Given the description of an element on the screen output the (x, y) to click on. 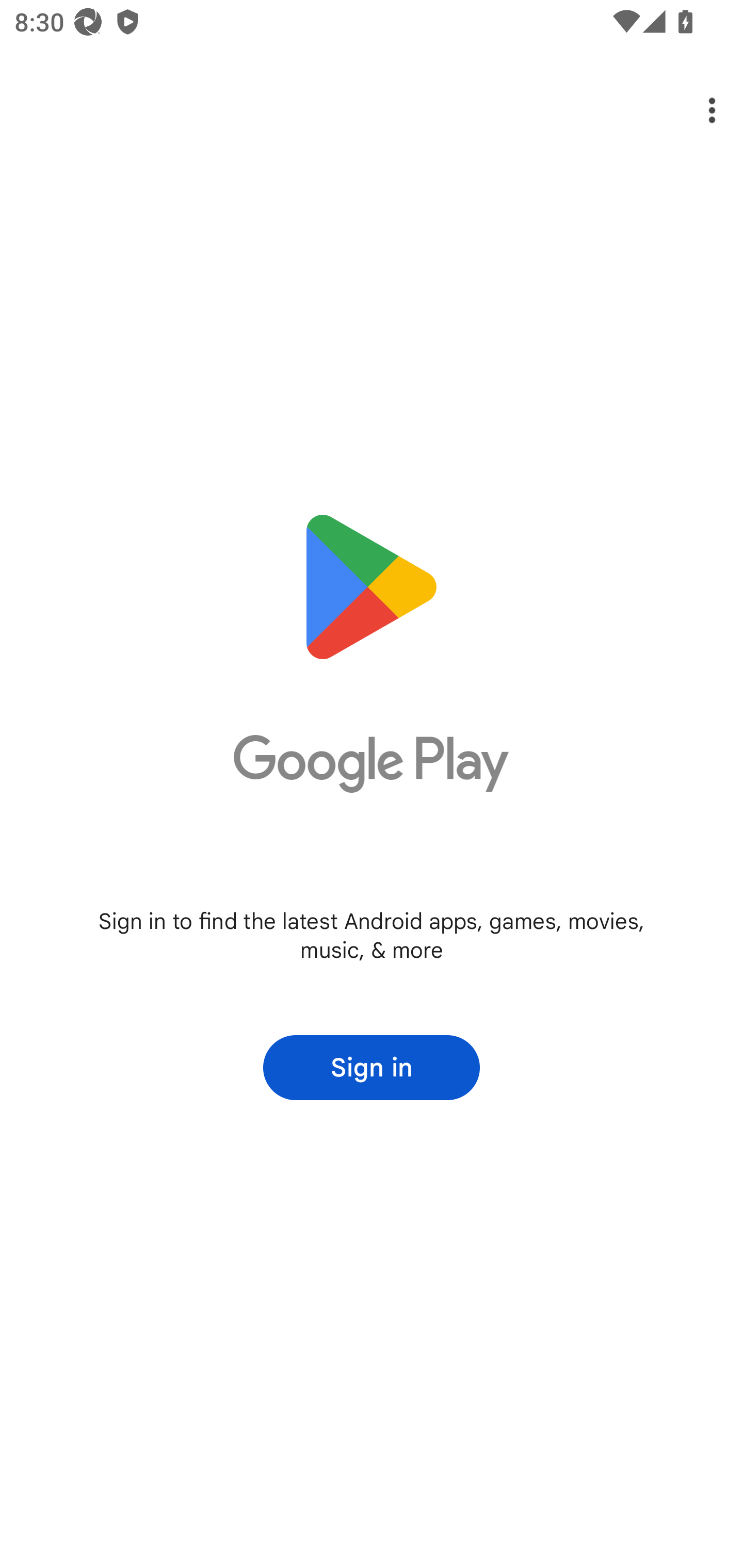
Options (697, 110)
Sign in (371, 1067)
